Given the description of an element on the screen output the (x, y) to click on. 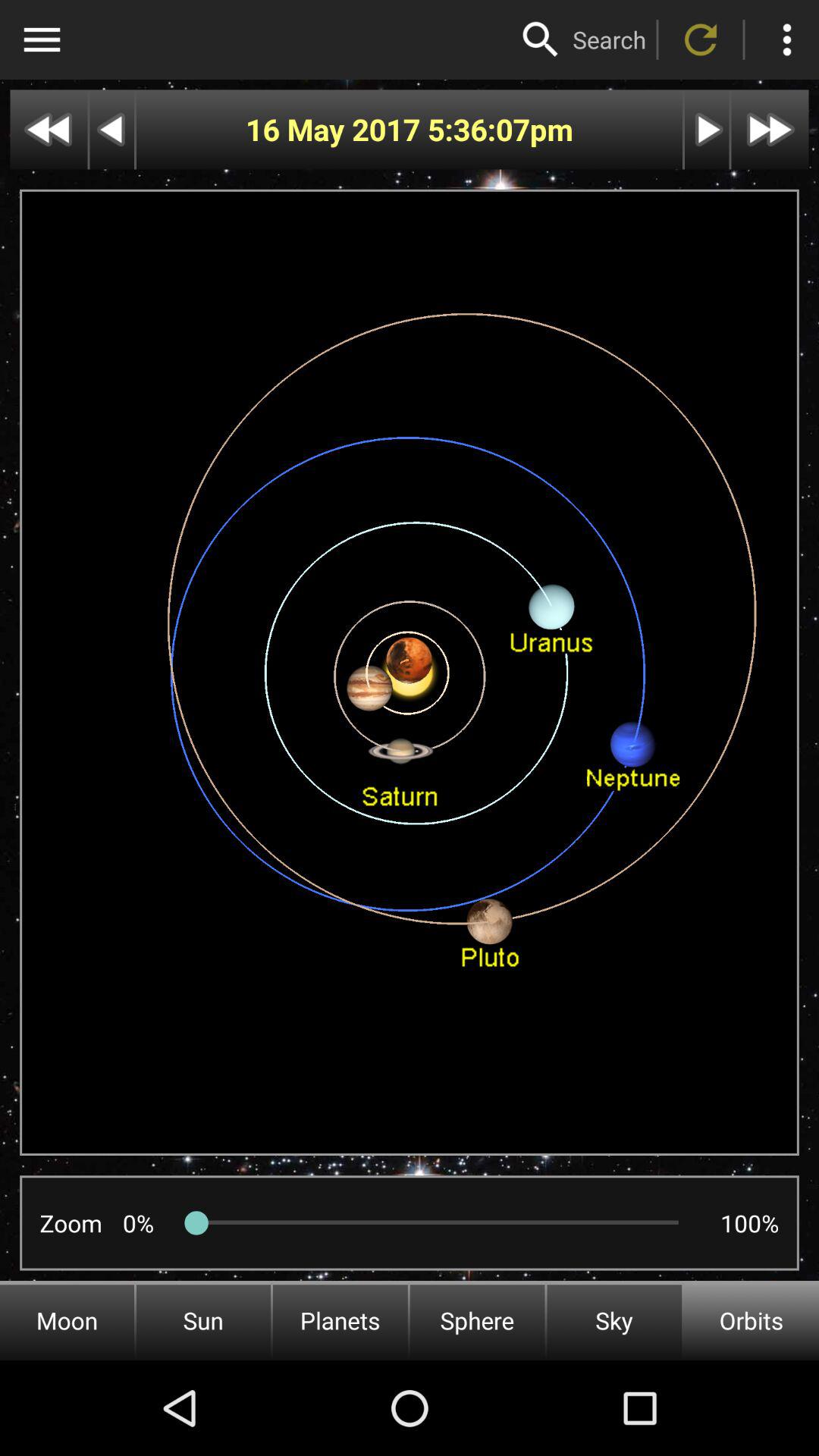
turn off icon to the left of pm app (478, 129)
